Given the description of an element on the screen output the (x, y) to click on. 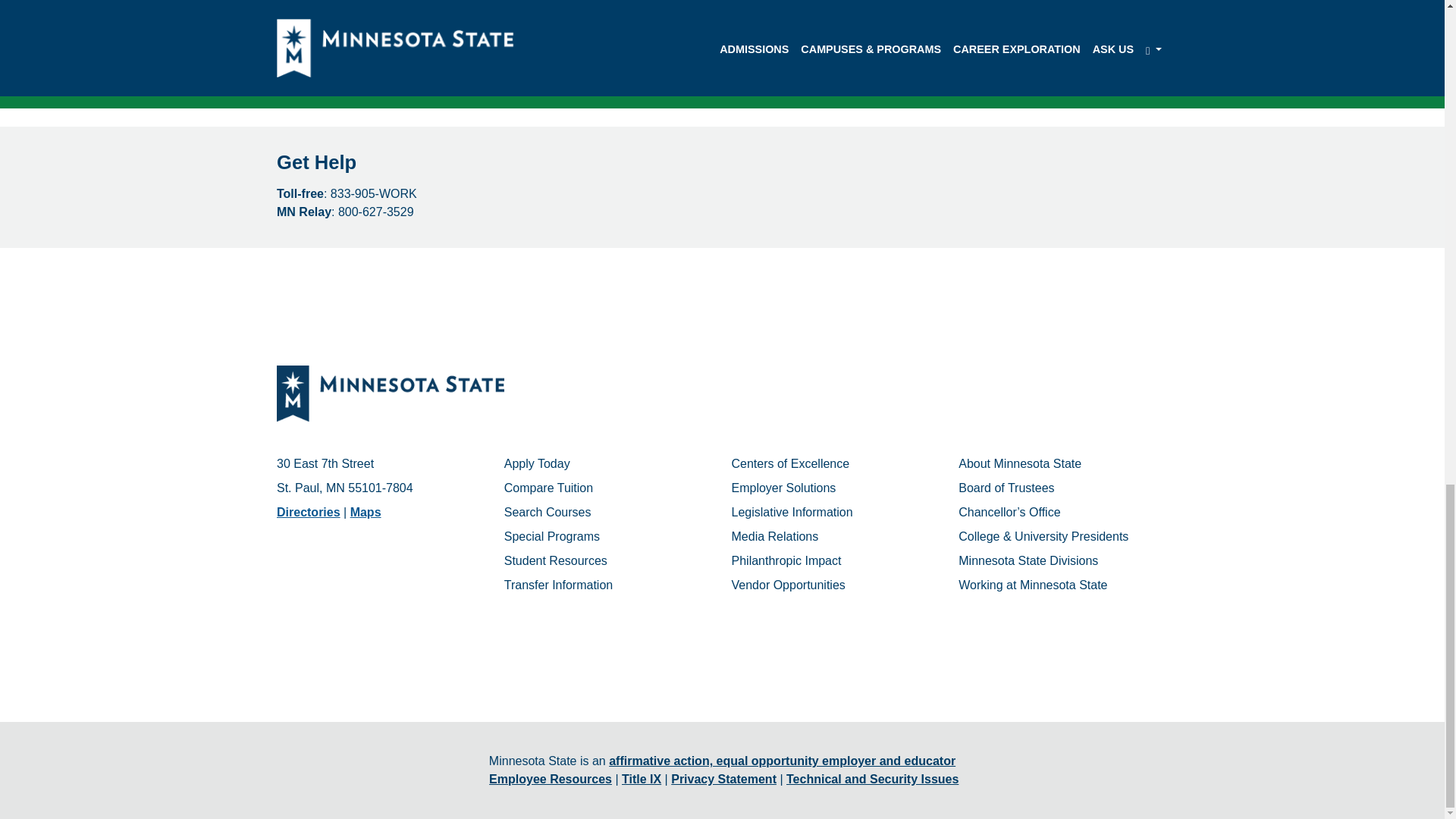
Alternative Resources (721, 37)
Minnesota State employee information (550, 779)
Compliance and reporting (641, 779)
FAQ (721, 5)
System privacy statement (723, 779)
Office of Equity and Inclusion (781, 760)
